Given the description of an element on the screen output the (x, y) to click on. 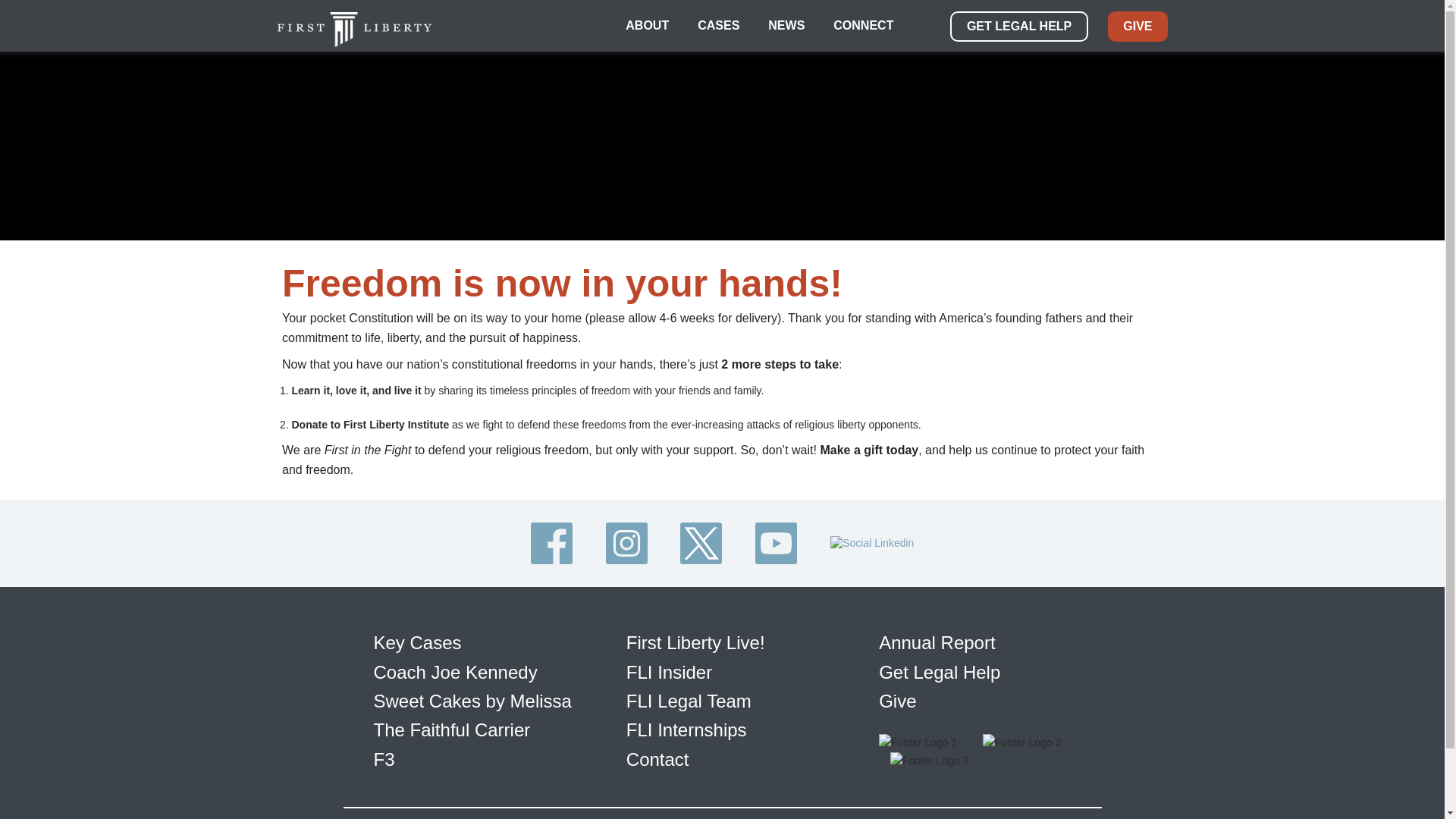
ABOUT (646, 25)
GET LEGAL HELP (1018, 26)
GIVE (1137, 26)
NEWS (785, 25)
CONNECT (863, 25)
CASES (718, 25)
